Given the description of an element on the screen output the (x, y) to click on. 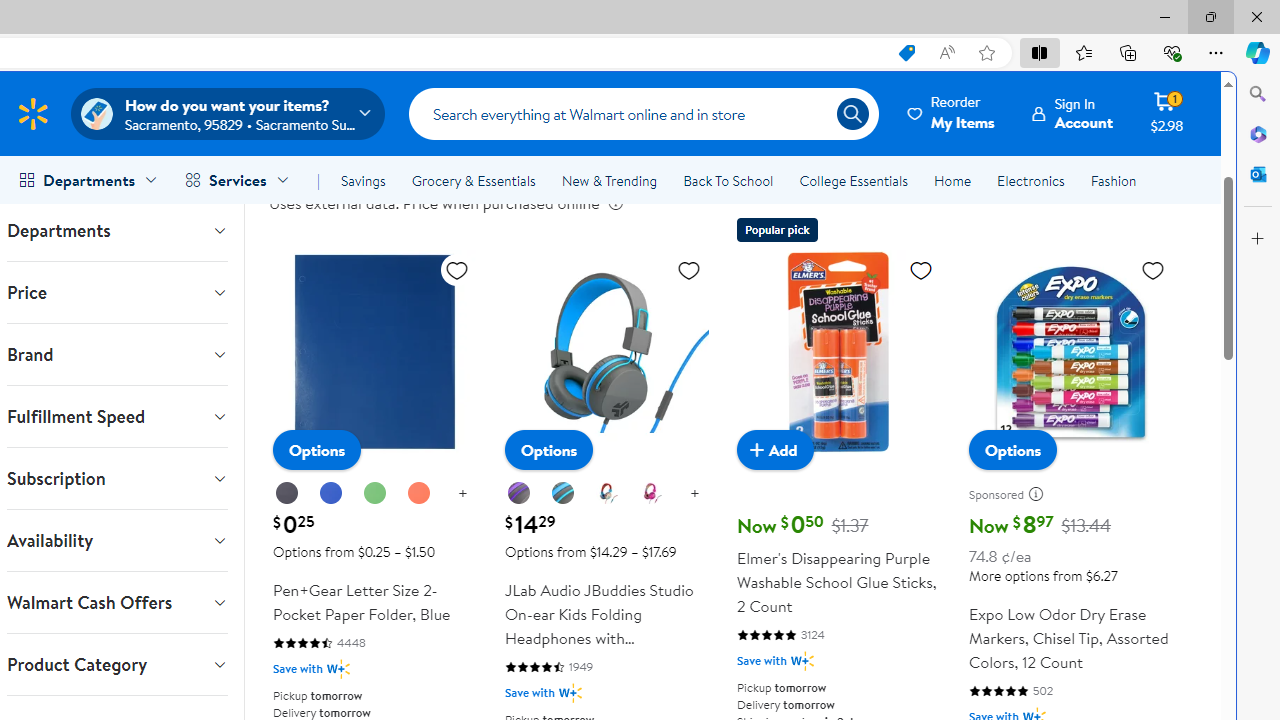
Savings (363, 180)
New & Trending (608, 180)
Sign In Account (1072, 113)
Blue (331, 494)
Pink (651, 494)
